Given the description of an element on the screen output the (x, y) to click on. 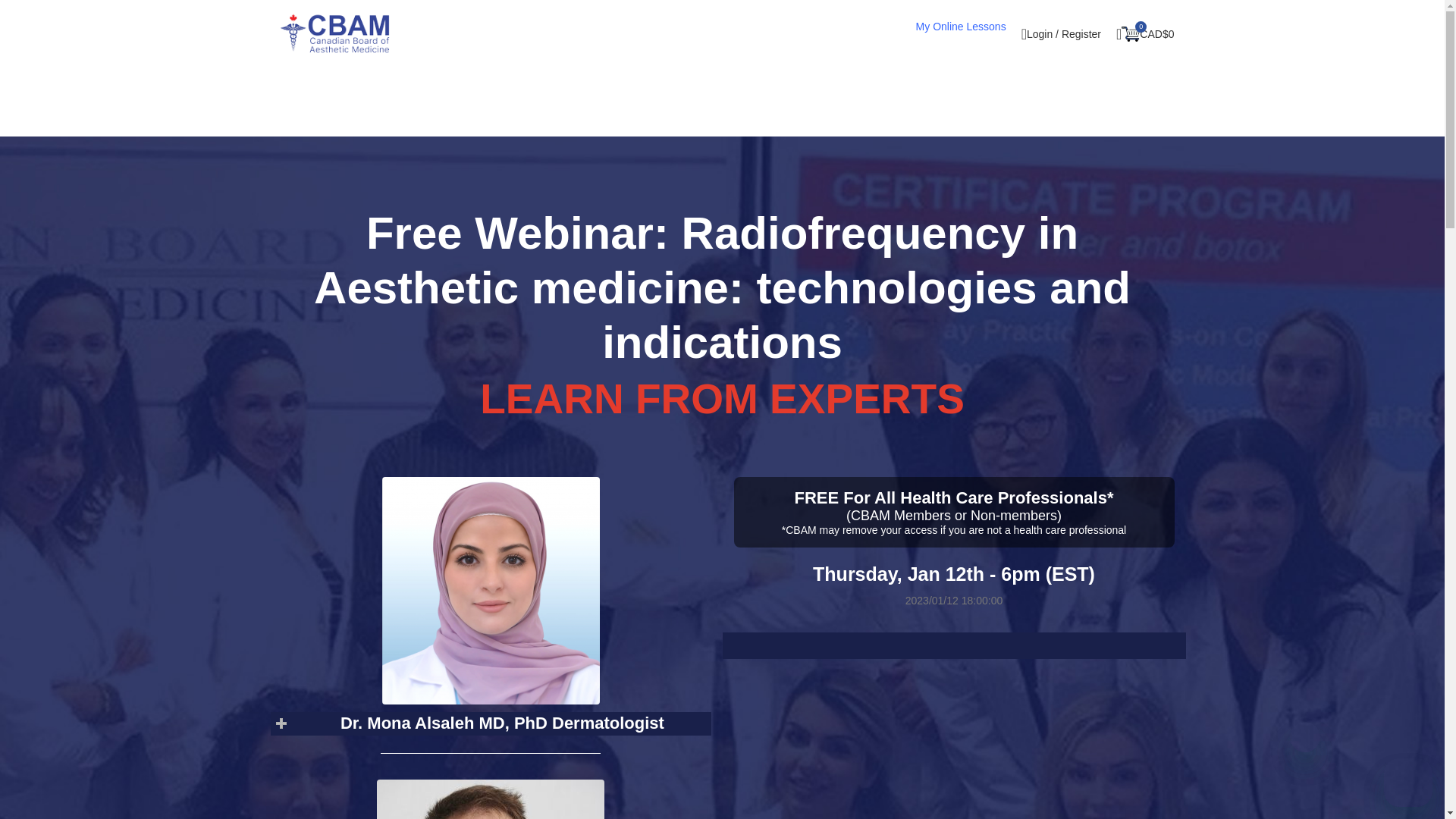
My Online Lessons (960, 26)
My account (1060, 33)
Shopping cart (1144, 33)
